Given the description of an element on the screen output the (x, y) to click on. 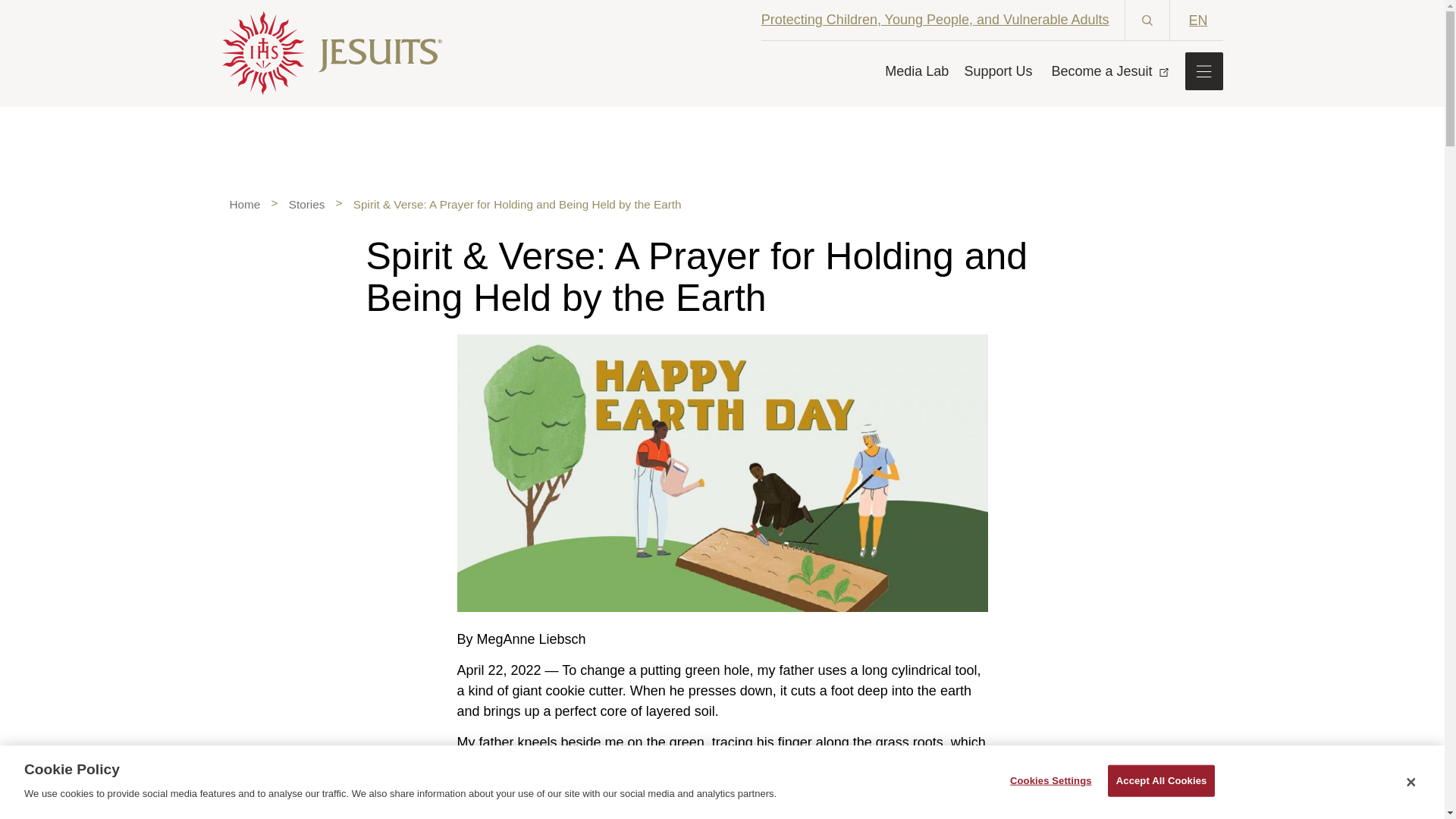
Stories (306, 204)
Home (244, 204)
Become a Jesuit (1107, 70)
English (1204, 19)
Protecting Children, Young People, and Vulnerable Adults (935, 19)
Support Us (997, 70)
Media Lab (917, 70)
